Given the description of an element on the screen output the (x, y) to click on. 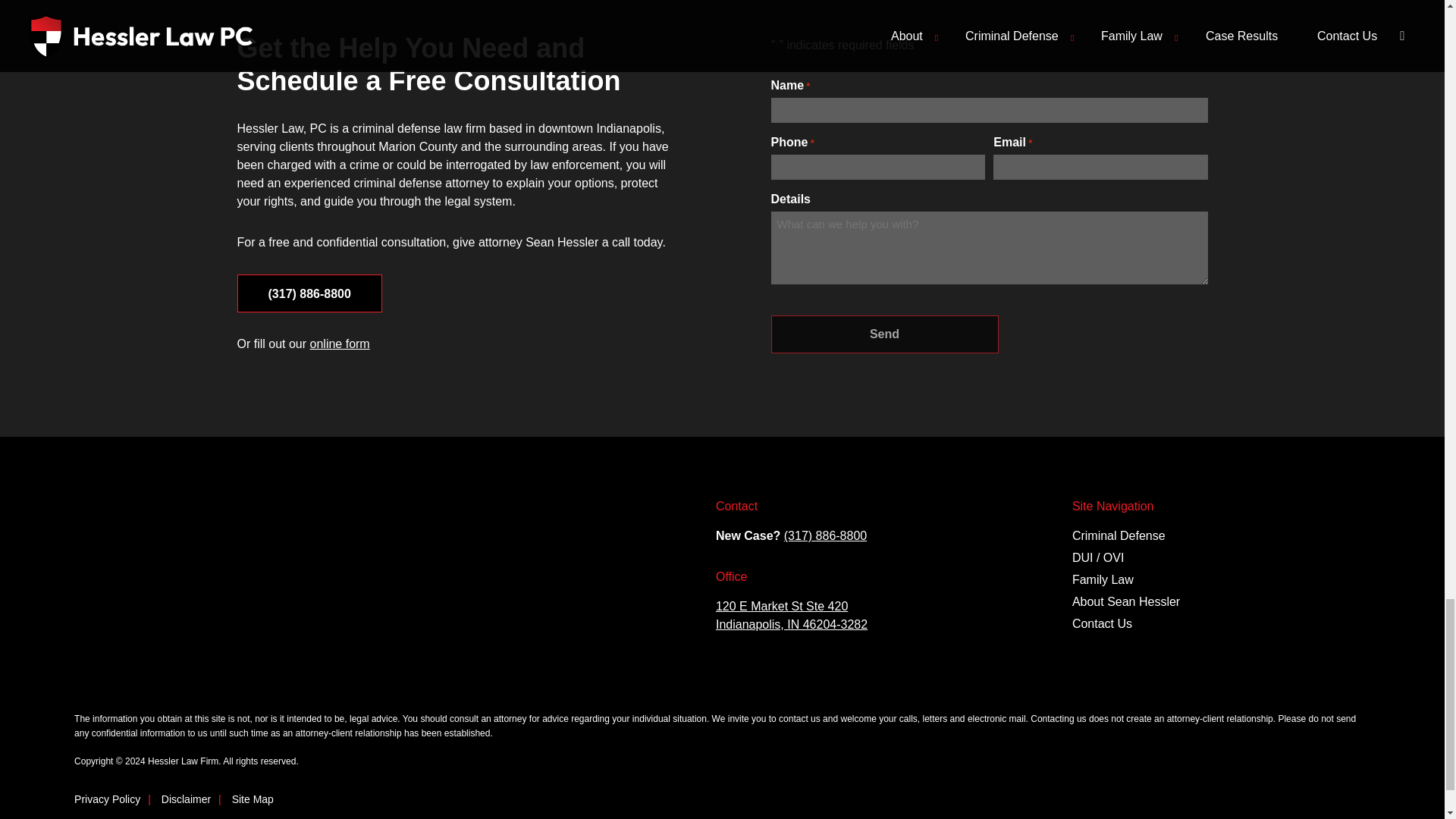
Call Sean Hessler (825, 535)
Send (883, 333)
Disclaimer (186, 799)
Our office location (791, 614)
Directions to Hessler Law PC (366, 592)
Privacy Policy (106, 799)
Site Map (252, 799)
